Given the description of an element on the screen output the (x, y) to click on. 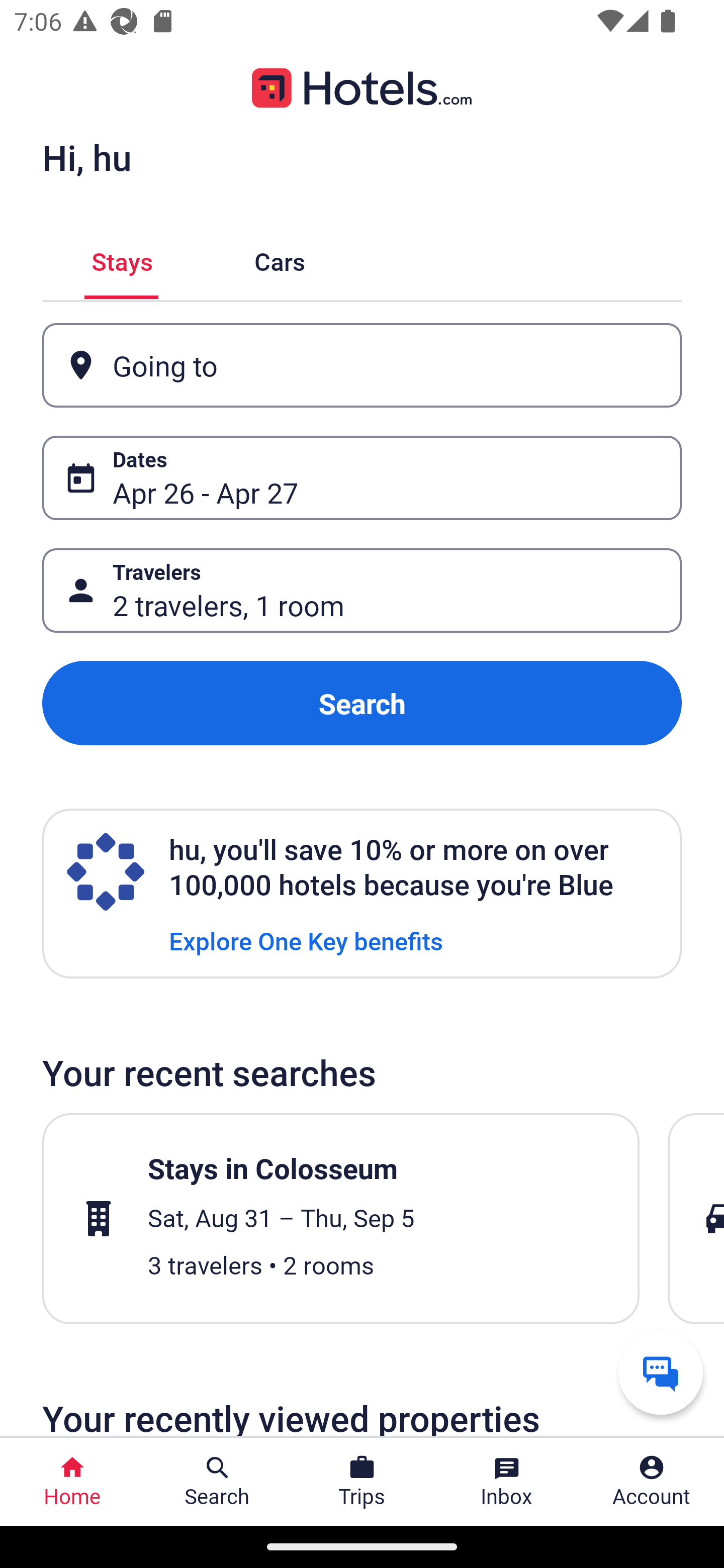
Hi, hu (86, 156)
Cars (279, 259)
Going to Button (361, 365)
Dates Button Apr 26 - Apr 27 (361, 477)
Travelers Button 2 travelers, 1 room (361, 590)
Search (361, 702)
Get help from a virtual agent (660, 1371)
Search Search Button (216, 1481)
Trips Trips Button (361, 1481)
Inbox Inbox Button (506, 1481)
Account Profile. Button (651, 1481)
